Given the description of an element on the screen output the (x, y) to click on. 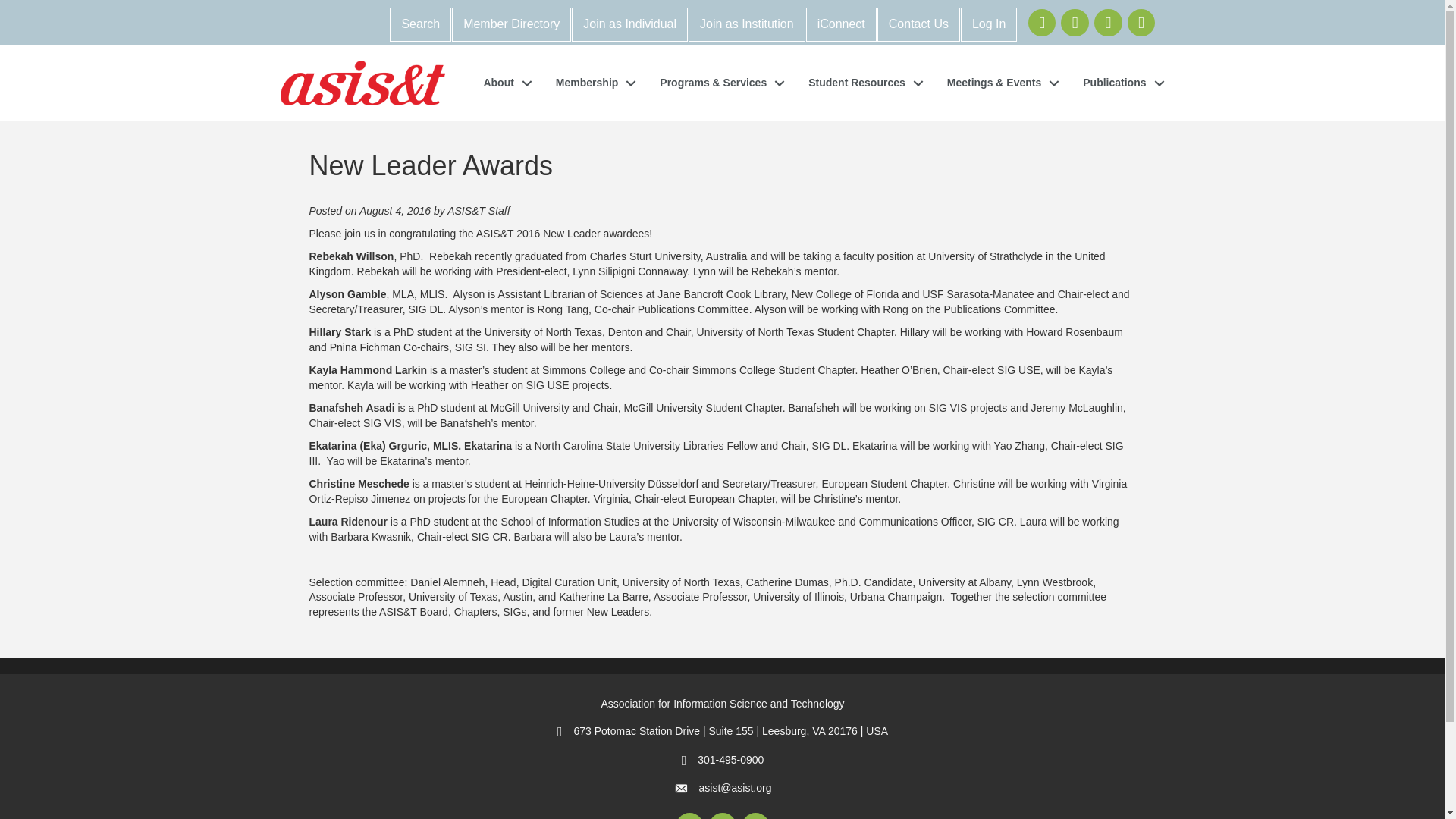
Search (420, 24)
Join as Individual (629, 24)
iConnect (841, 24)
Log In (988, 24)
Join as Institution (746, 24)
Contact Us (918, 24)
About (502, 82)
Member Directory (510, 24)
